Given the description of an element on the screen output the (x, y) to click on. 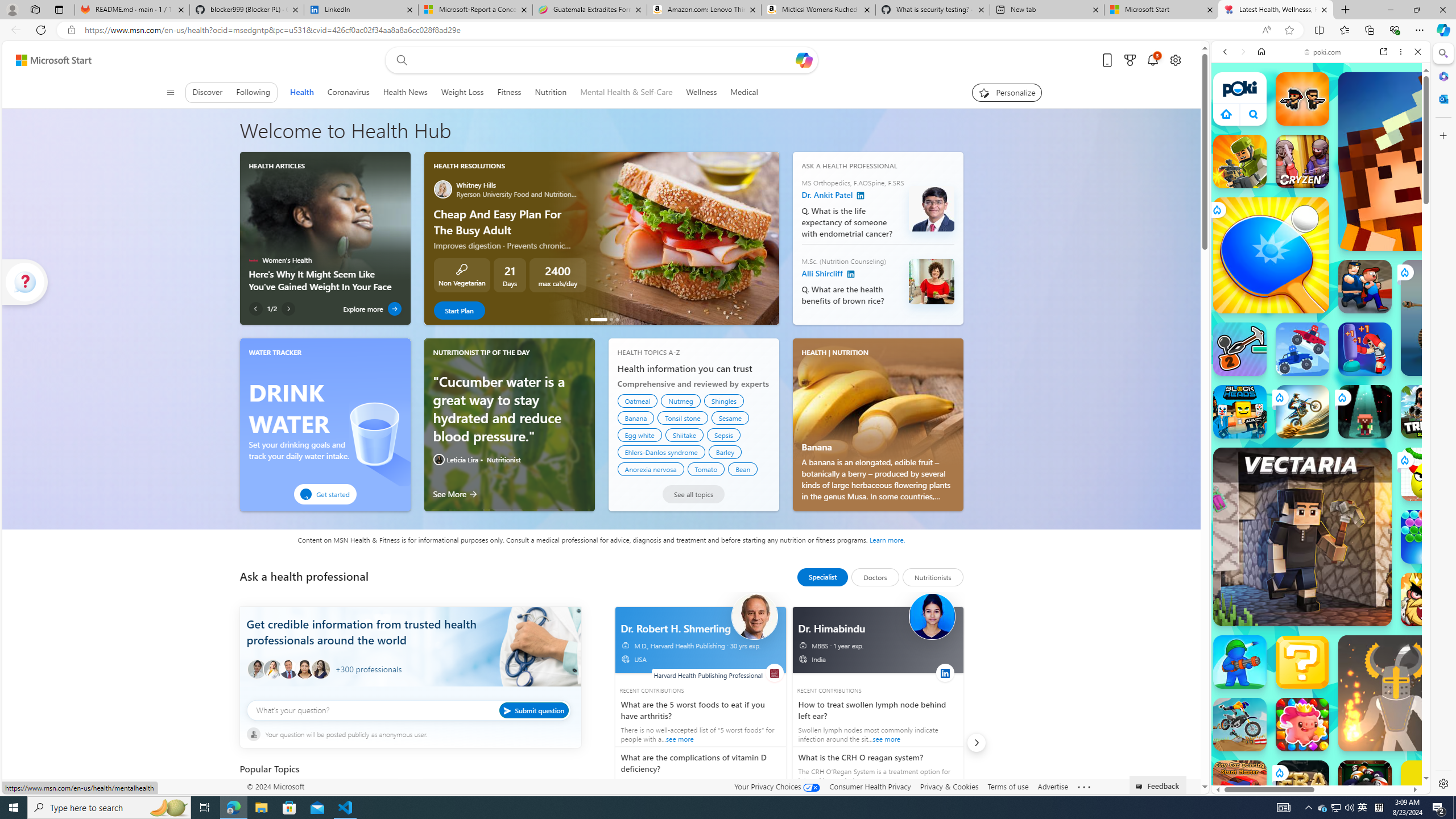
Punch Legend Simulator Punch Legend Simulator (1364, 348)
Oatmeal (637, 400)
Mystery Tile (1302, 661)
Kour.io Kour.io (1239, 161)
City Car Driving: Stunt Master (1239, 787)
Health News (404, 92)
Previous Article (255, 308)
Class: control icon-only (170, 92)
Bubble Shooter (1427, 536)
